Given the description of an element on the screen output the (x, y) to click on. 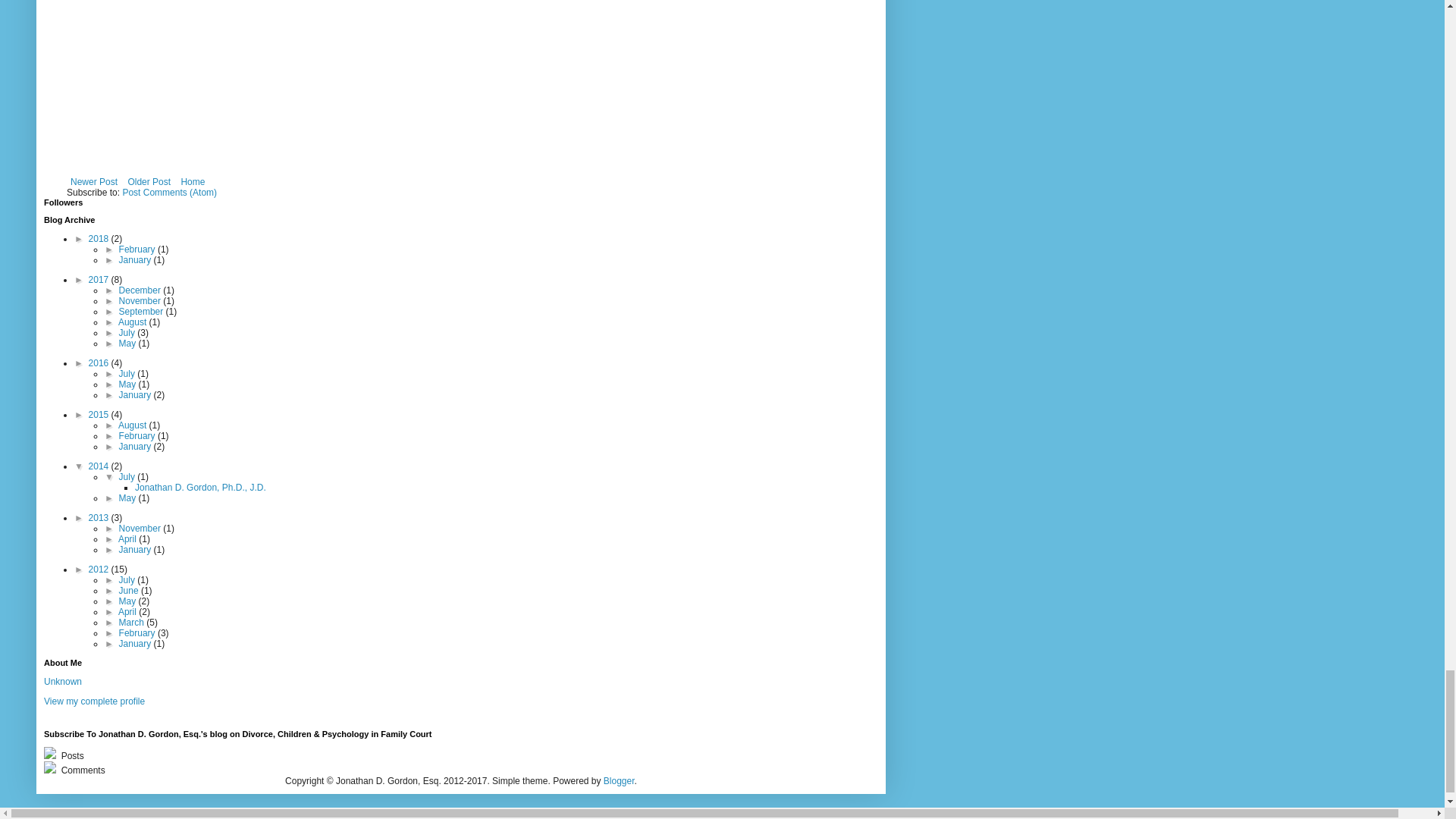
2018 (100, 238)
Newer Post (93, 181)
2017 (100, 279)
September (142, 311)
January (136, 259)
Older Post (148, 181)
November (141, 300)
December (141, 290)
July (128, 332)
Home (192, 181)
Newer Post (93, 181)
August (133, 321)
Older Post (148, 181)
February (138, 249)
